Given the description of an element on the screen output the (x, y) to click on. 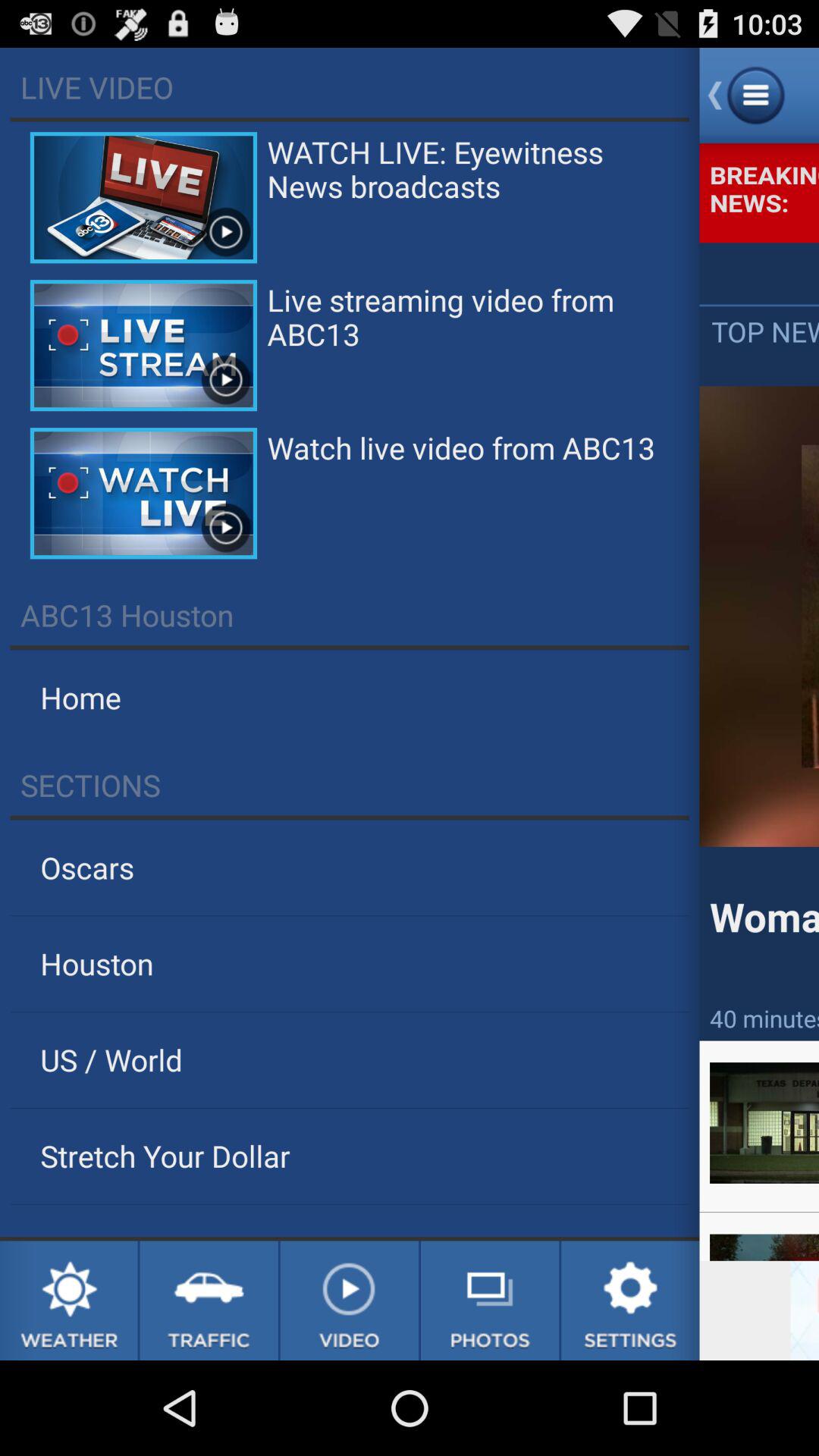
traffic update link (208, 1300)
